Given the description of an element on the screen output the (x, y) to click on. 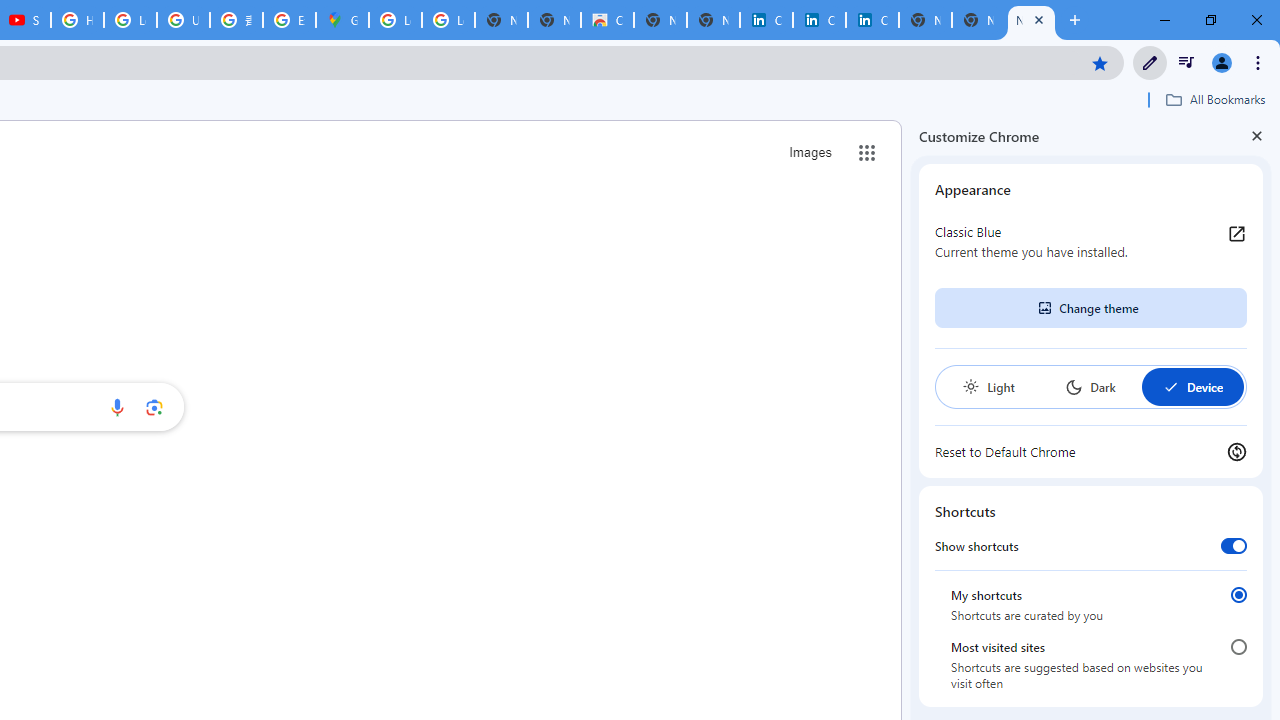
AutomationID: baseSvg (1170, 386)
Customize Chrome (1149, 62)
Light (988, 386)
Dark (1090, 386)
Reset to Default Chrome (1091, 452)
Most visited sites (1238, 647)
Search by image (153, 407)
New Tab (1031, 20)
Search for Images  (810, 152)
Explore new street-level details - Google Maps Help (289, 20)
